Given the description of an element on the screen output the (x, y) to click on. 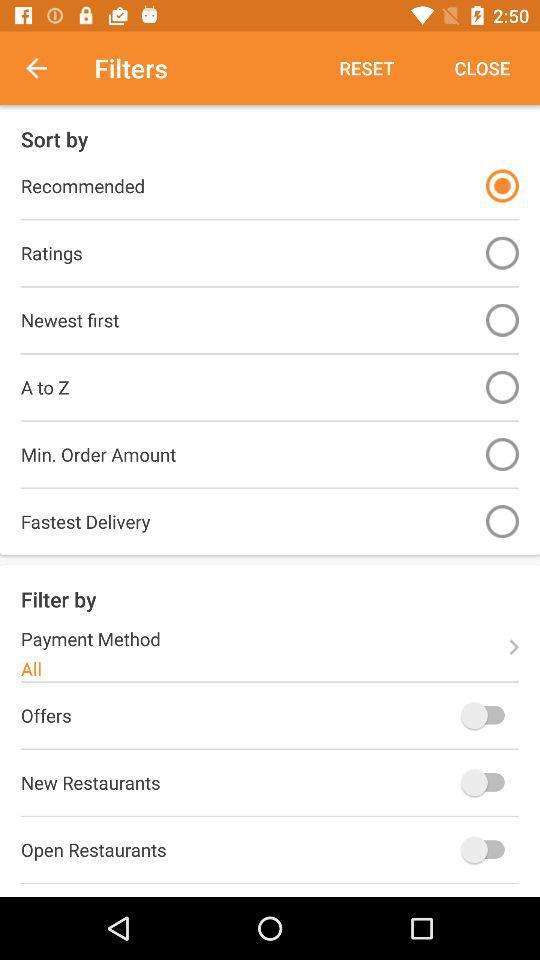
toggle filter by open resturants (487, 849)
